Given the description of an element on the screen output the (x, y) to click on. 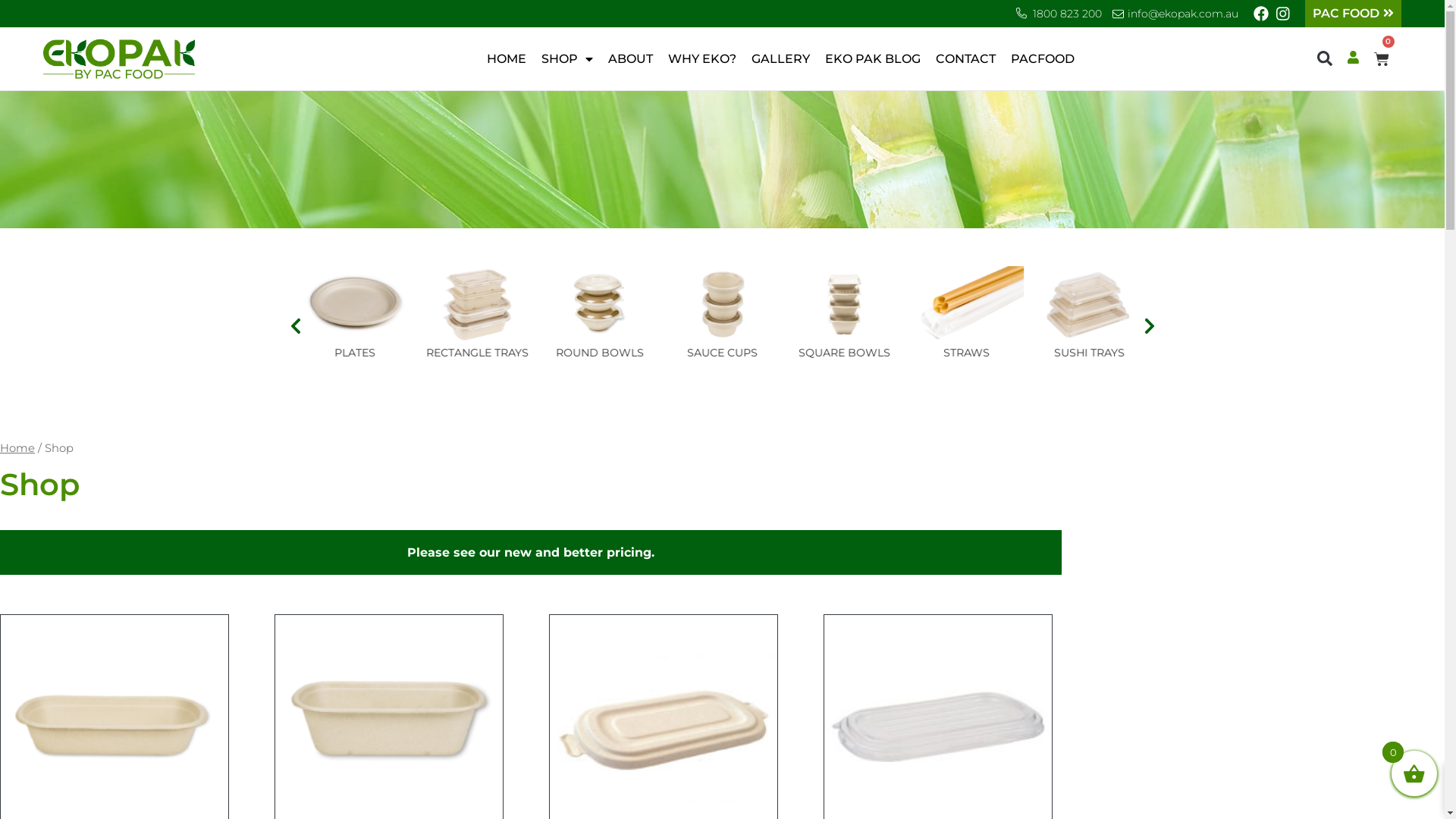
ABOUT Element type: text (630, 58)
ROUND BOWLS Element type: text (721, 352)
Home Element type: text (17, 448)
0 Element type: text (1381, 58)
PLATES Element type: text (477, 352)
GALLERY Element type: text (780, 58)
1800 823 200 Element type: text (1066, 13)
SHOP Element type: text (566, 58)
CONTACT Element type: text (965, 58)
HOME Element type: text (506, 58)
STRAWS Element type: text (1089, 352)
PAC FOOD Element type: text (1353, 13)
SAUCE CUPS Element type: text (844, 352)
EKO PAK BLOG Element type: text (872, 58)
PACFOOD Element type: text (1042, 58)
SQUARE BOWLS Element type: text (967, 352)
info@ekopak.com.au Element type: text (1182, 13)
WHY EKO? Element type: text (701, 58)
RECTANGLE TRAYS Element type: text (599, 352)
CUTLERY Element type: text (354, 352)
